Given the description of an element on the screen output the (x, y) to click on. 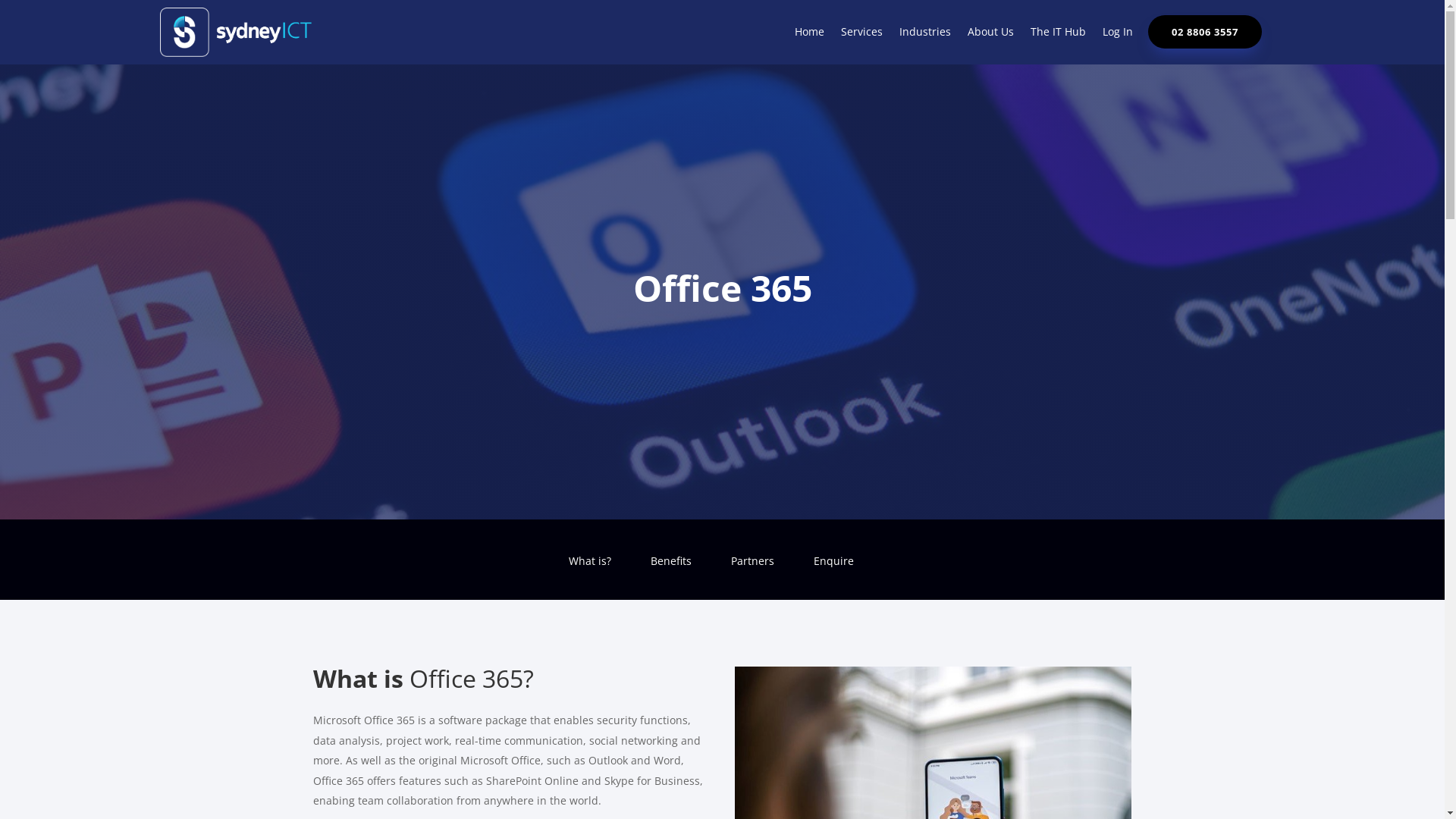
Services Element type: text (861, 34)
Enquire Element type: text (832, 571)
Industries Element type: text (924, 34)
Partners Element type: text (752, 571)
What is? Element type: text (589, 571)
The IT Hub Element type: text (1057, 34)
Benefits Element type: text (670, 571)
Log In Element type: text (1117, 34)
Home Element type: text (809, 34)
About Us Element type: text (990, 34)
02 8806 3557 Element type: text (1204, 31)
